Given the description of an element on the screen output the (x, y) to click on. 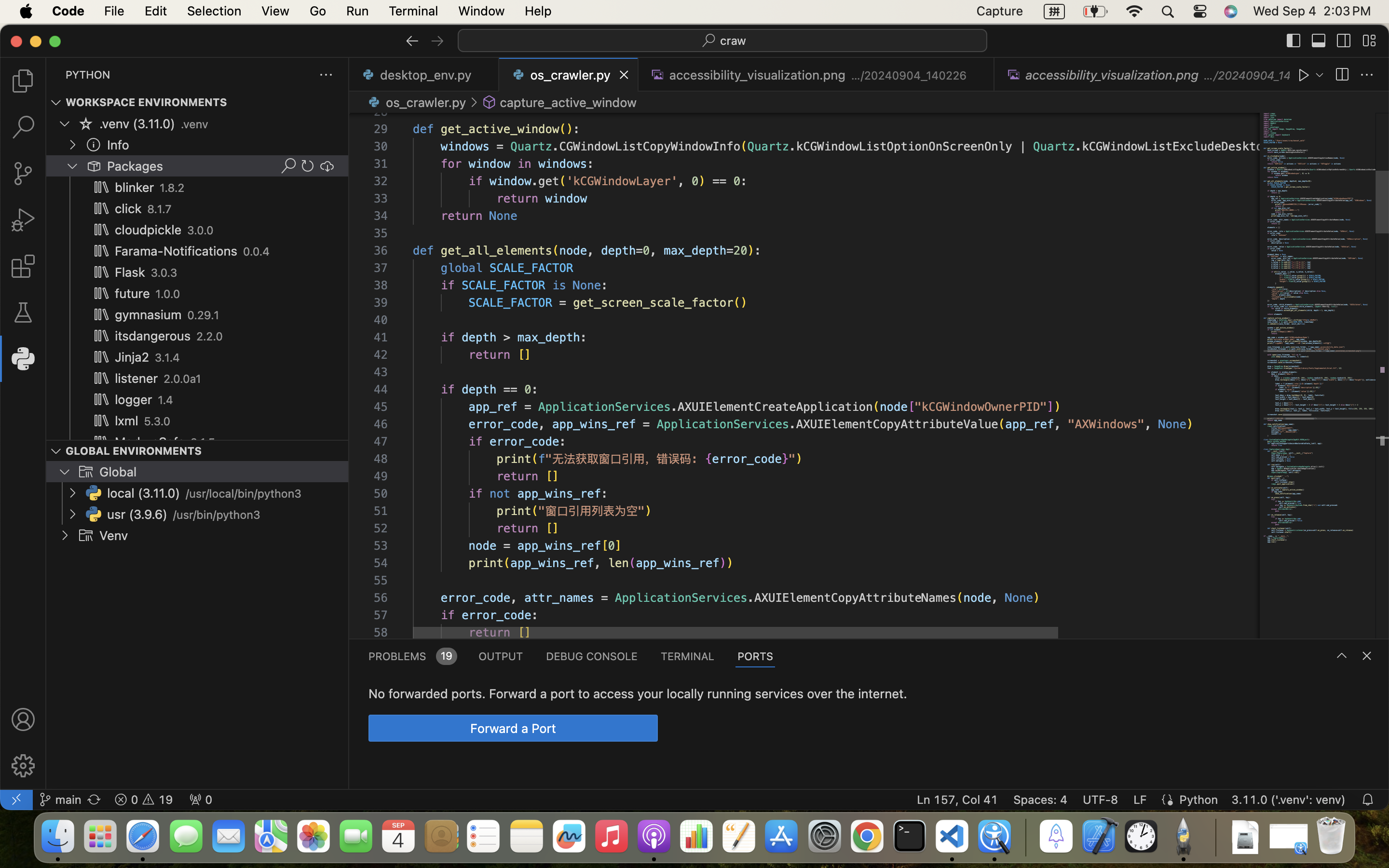
local (3.11.0) Element type: AXStaticText (143, 493)
0 DEBUG CONSOLE Element type: AXRadioButton (591, 655)
accessibility_visualization.png Element type: AXStaticText (757, 74)
blinker Element type: AXStaticText (134, 187)
 Element type: AXCheckBox (1341, 655)
